Given the description of an element on the screen output the (x, y) to click on. 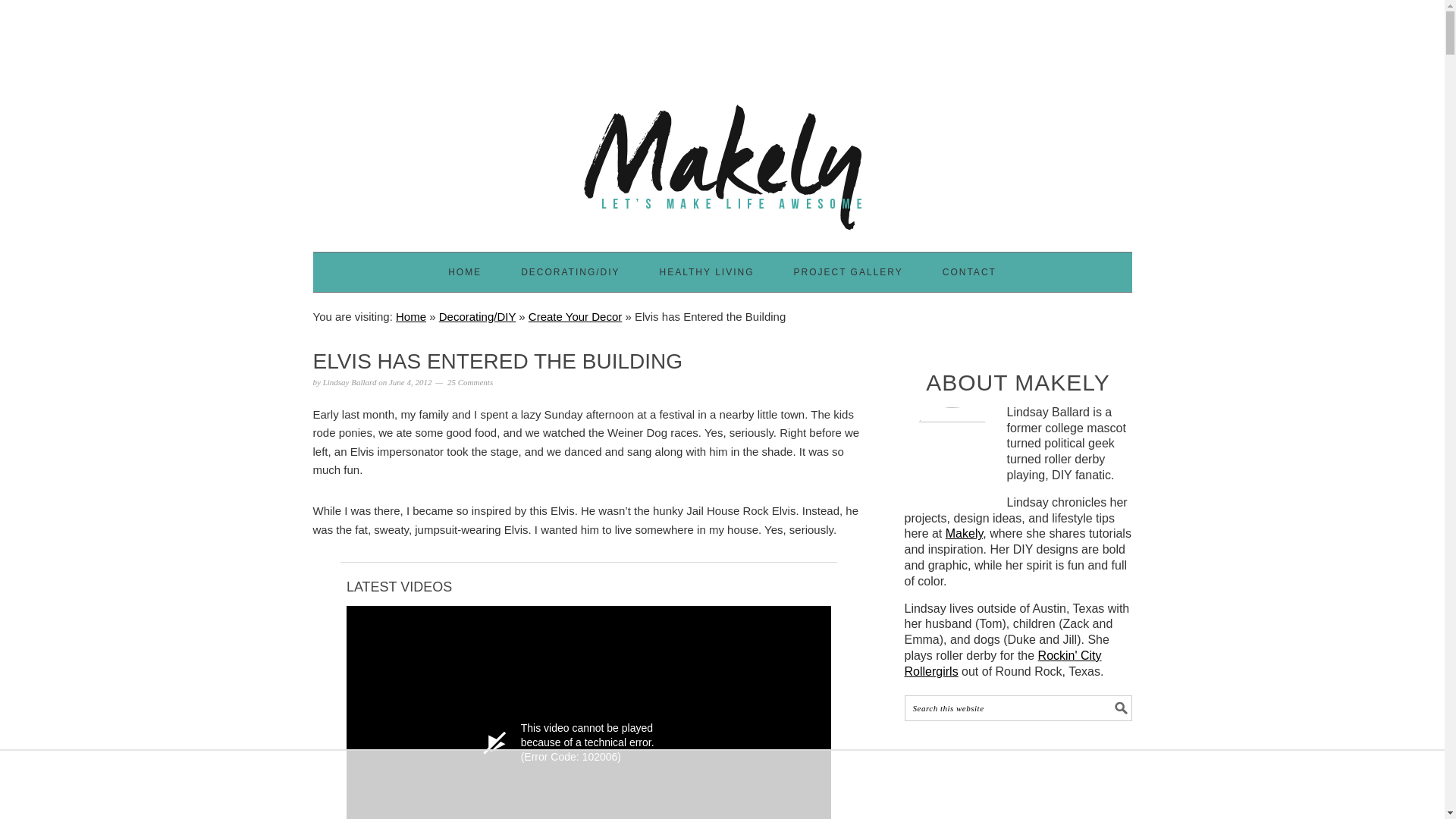
25 Comments (469, 381)
HEALTHY LIVING (706, 271)
Lindsay Ballard (350, 381)
HOME (464, 271)
PROJECT GALLERY (847, 271)
MAKELY (722, 160)
Create Your Decor (574, 316)
Home (411, 316)
CONTACT (968, 271)
